Given the description of an element on the screen output the (x, y) to click on. 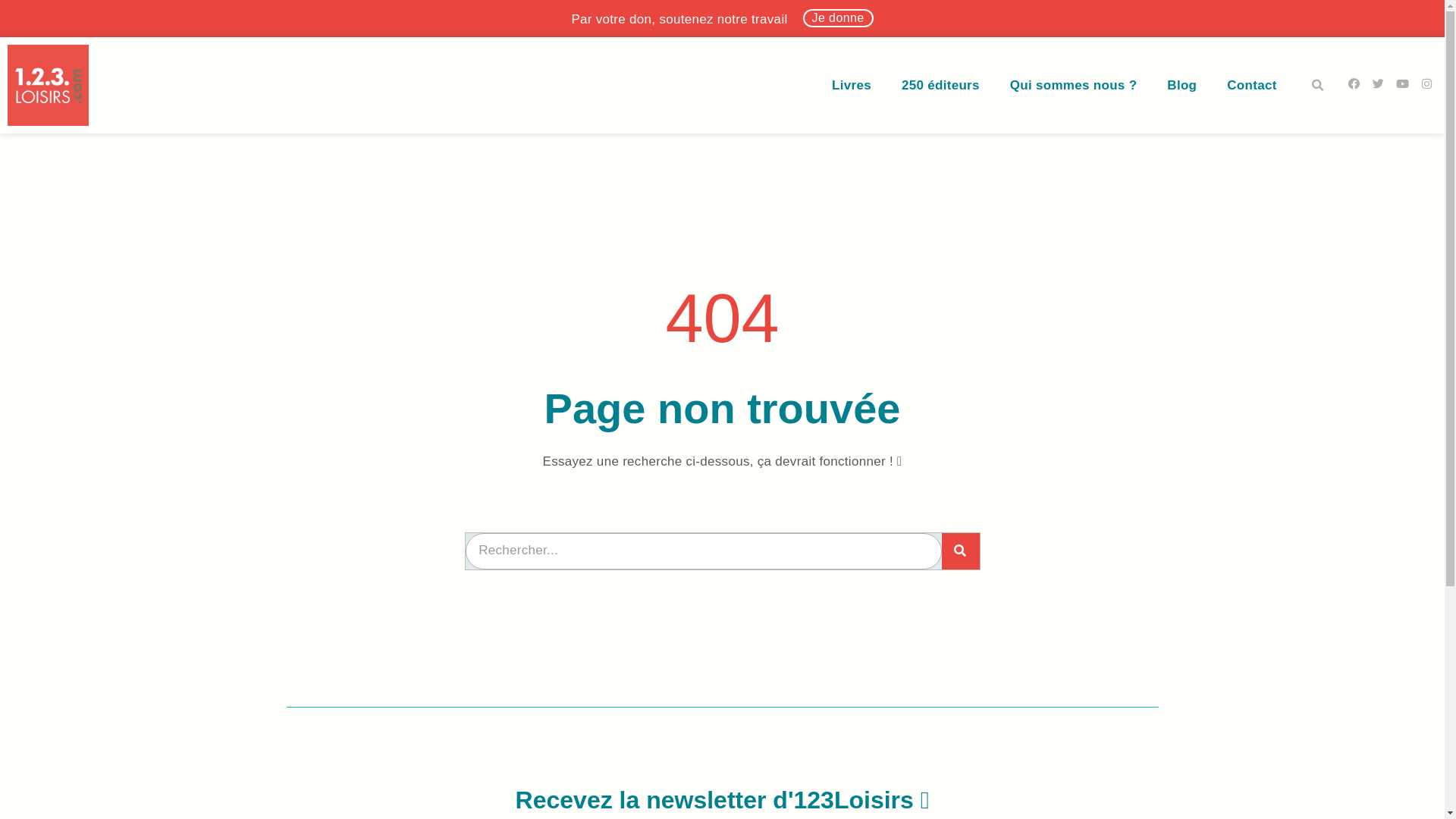
Qui sommes nous ? Element type: text (1073, 85)
Je donne Element type: text (838, 18)
Blog Element type: text (1181, 85)
Livres Element type: text (851, 85)
Contact Element type: text (1251, 85)
